Given the description of an element on the screen output the (x, y) to click on. 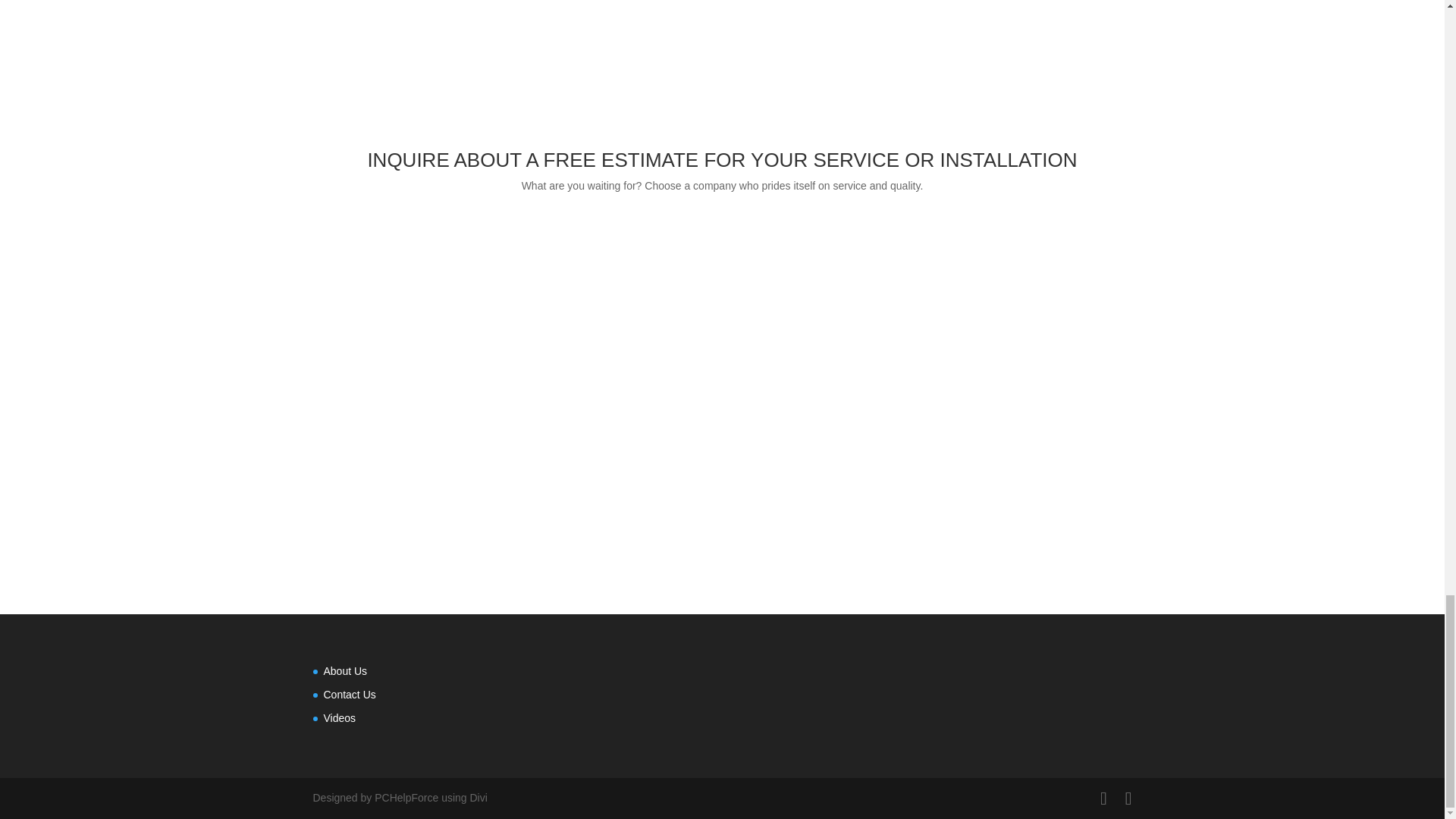
Contact Us (349, 694)
Videos (339, 717)
GET IN TOUCH TODAY (722, 236)
Citations (722, 447)
About Us (344, 671)
